Given the description of an element on the screen output the (x, y) to click on. 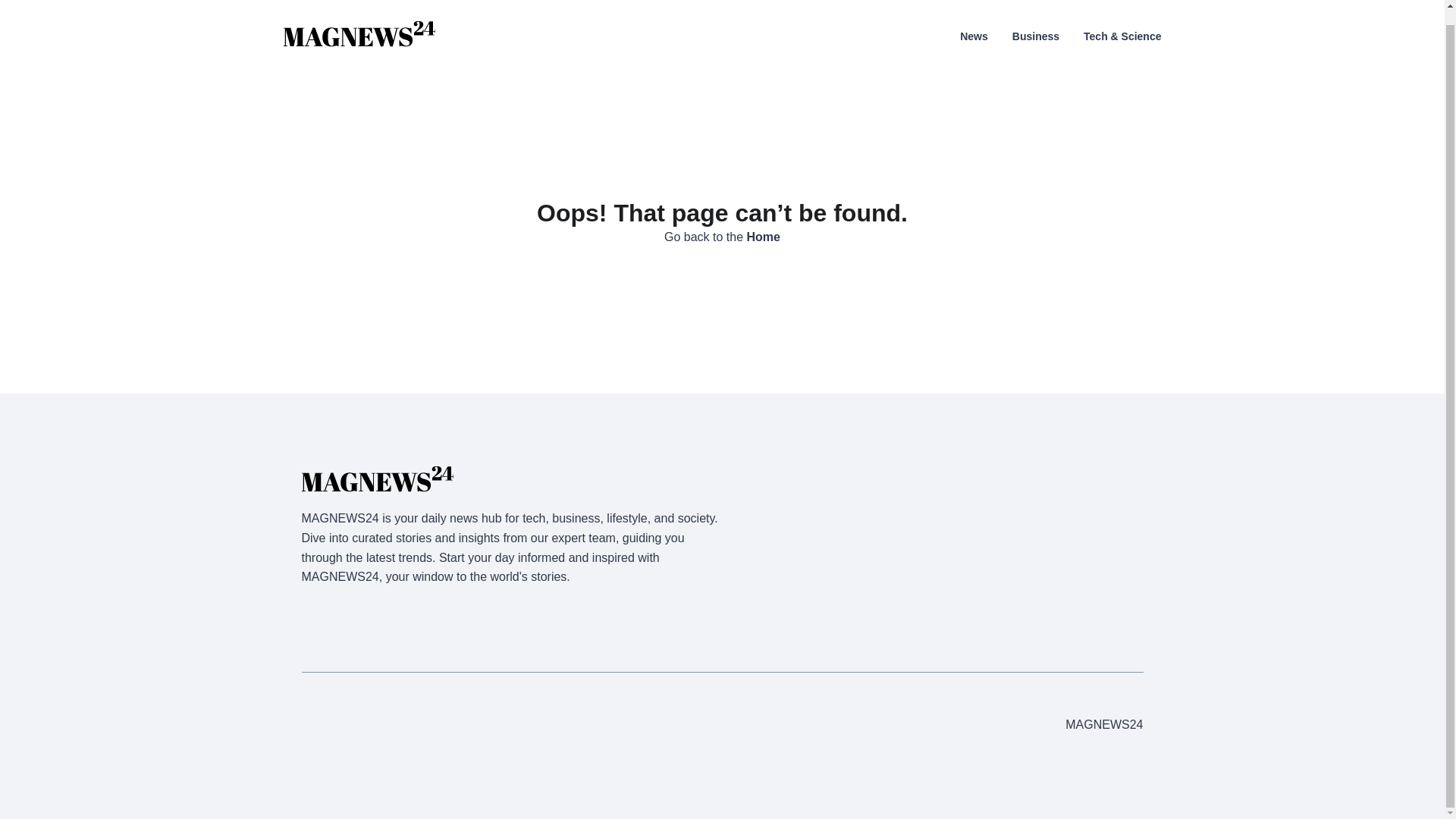
News (973, 21)
Business (1035, 21)
Home (763, 236)
